Given the description of an element on the screen output the (x, y) to click on. 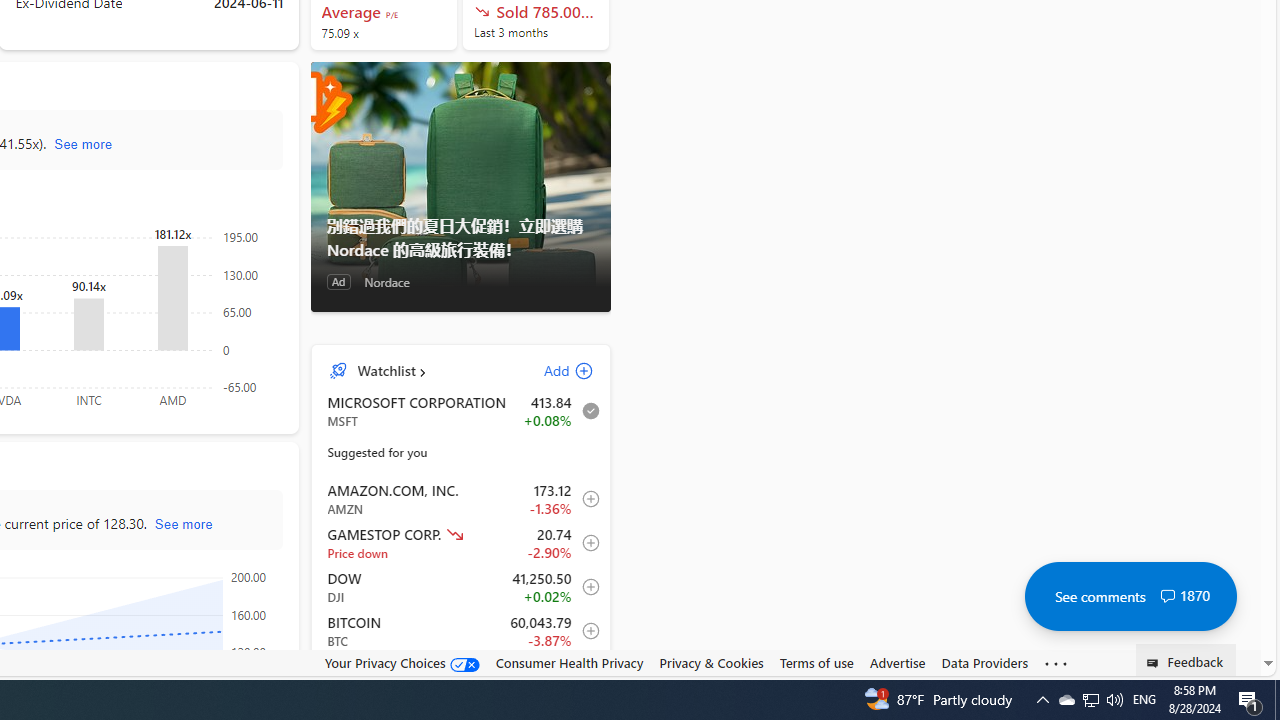
Your Privacy Choices (401, 662)
Data Providers (983, 662)
